Given the description of an element on the screen output the (x, y) to click on. 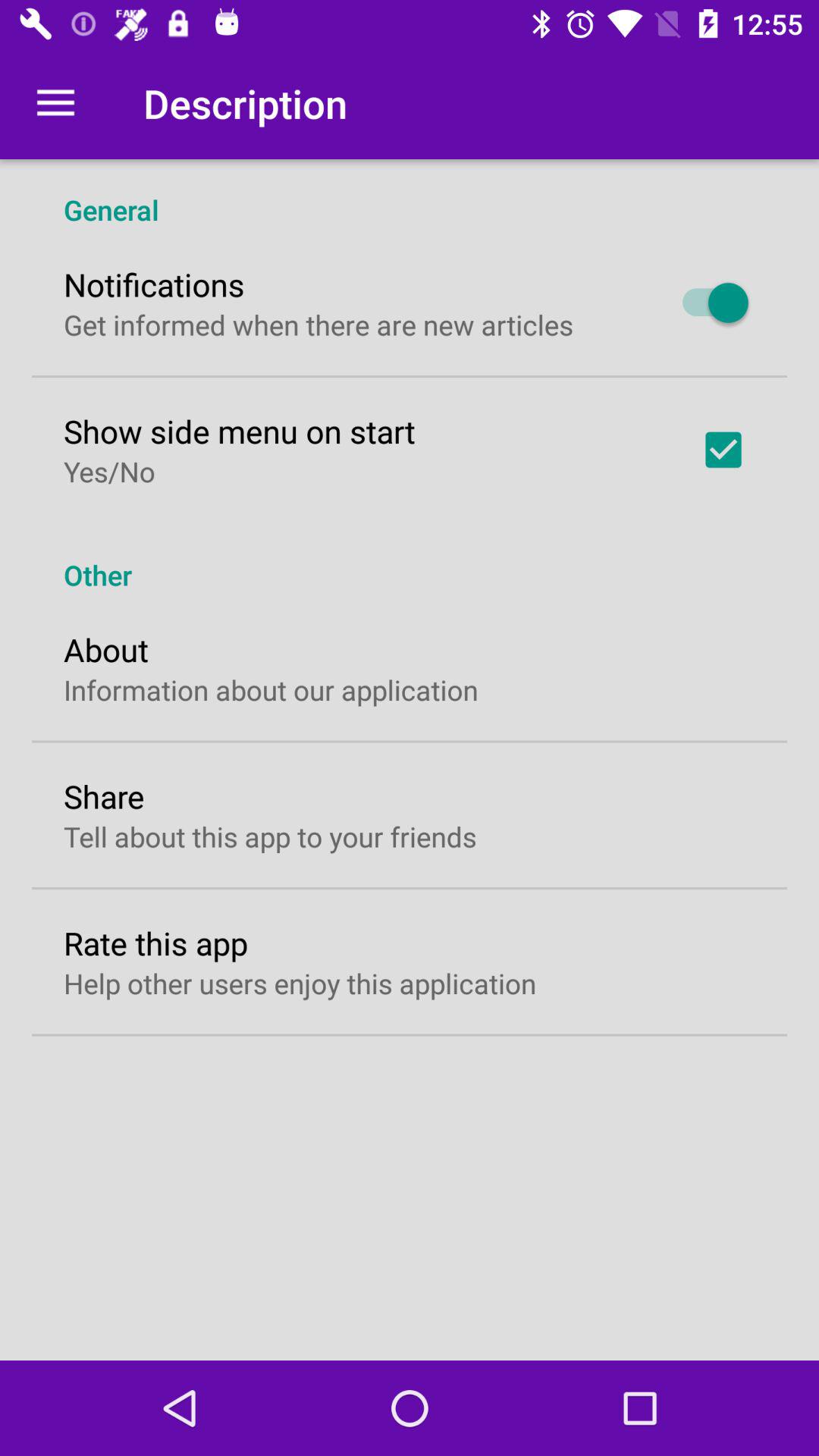
choose the icon above the share item (270, 689)
